Given the description of an element on the screen output the (x, y) to click on. 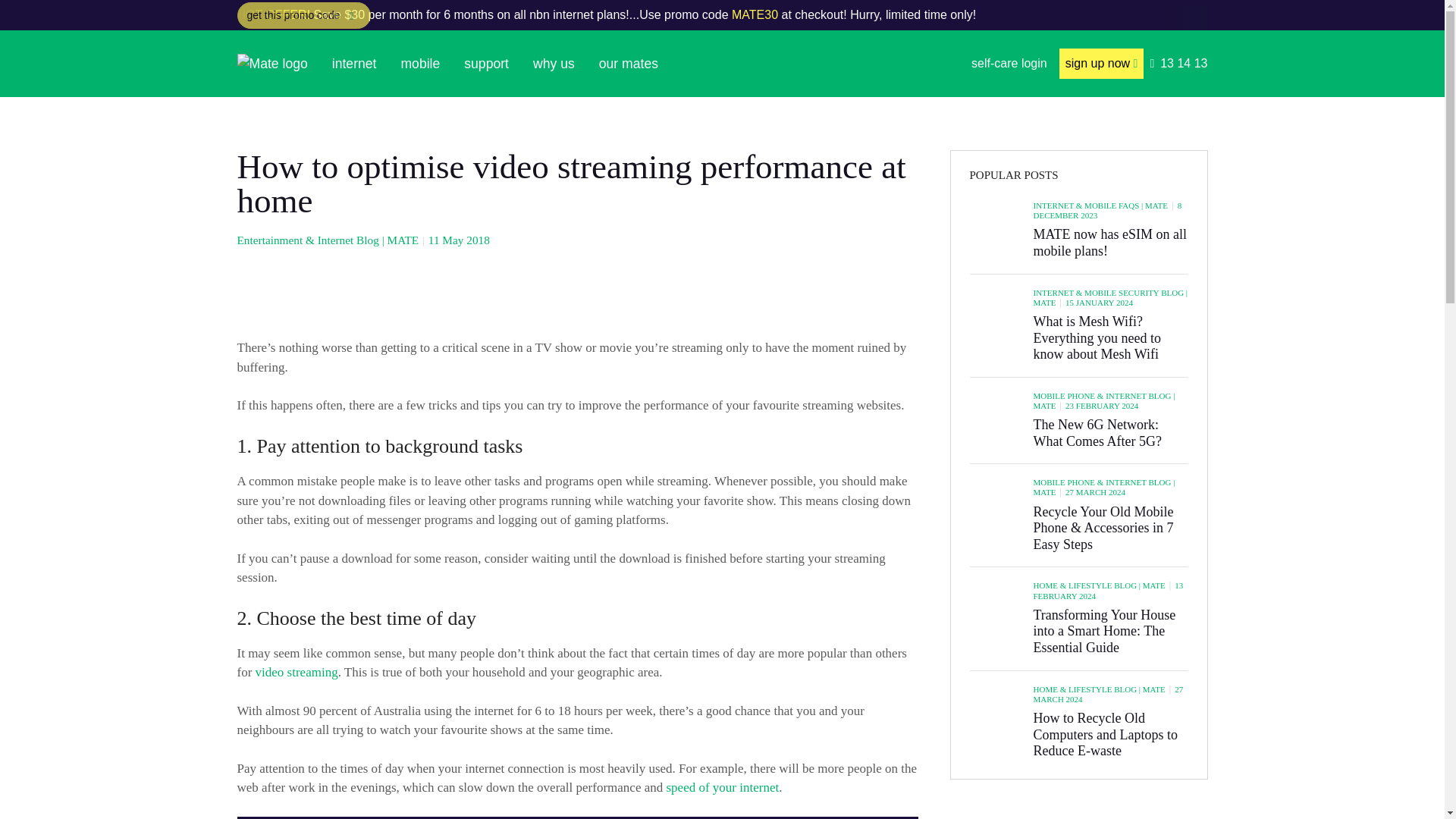
our mates (628, 63)
13 14 13 (1178, 63)
why us (553, 63)
support (486, 63)
internet (354, 63)
get this promo code (303, 15)
self-care login (1008, 63)
mobile (419, 63)
sign up now (1101, 63)
